Given the description of an element on the screen output the (x, y) to click on. 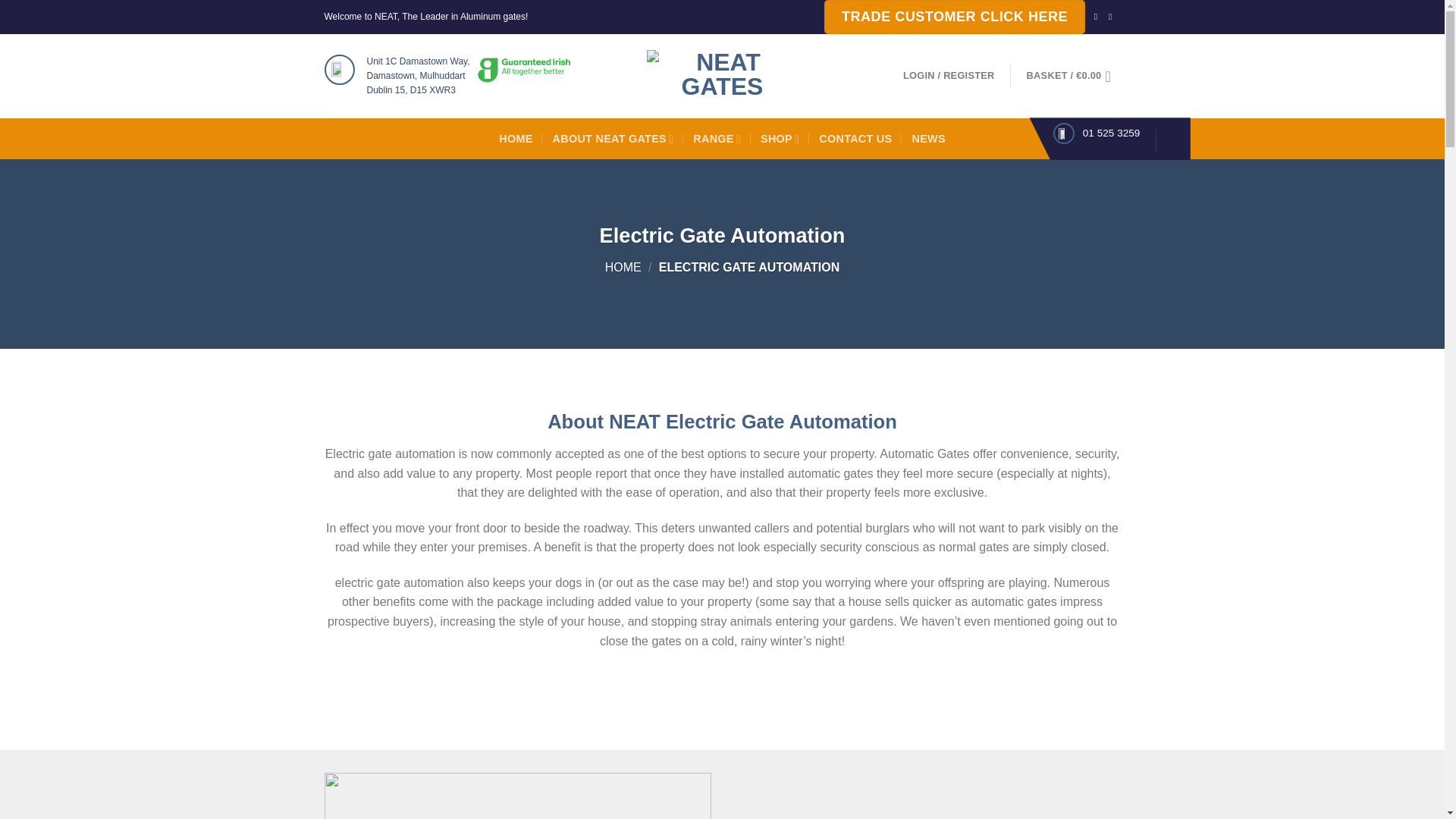
TRADE CUSTOMER CLICK HERE (954, 17)
RANGE (717, 137)
Basket (1073, 76)
HOME (623, 267)
ABOUT NEAT GATES (613, 137)
NEAT Gates - Electric Aluminium Gates (721, 75)
CONTACT US (854, 137)
SHOP (779, 137)
